Given the description of an element on the screen output the (x, y) to click on. 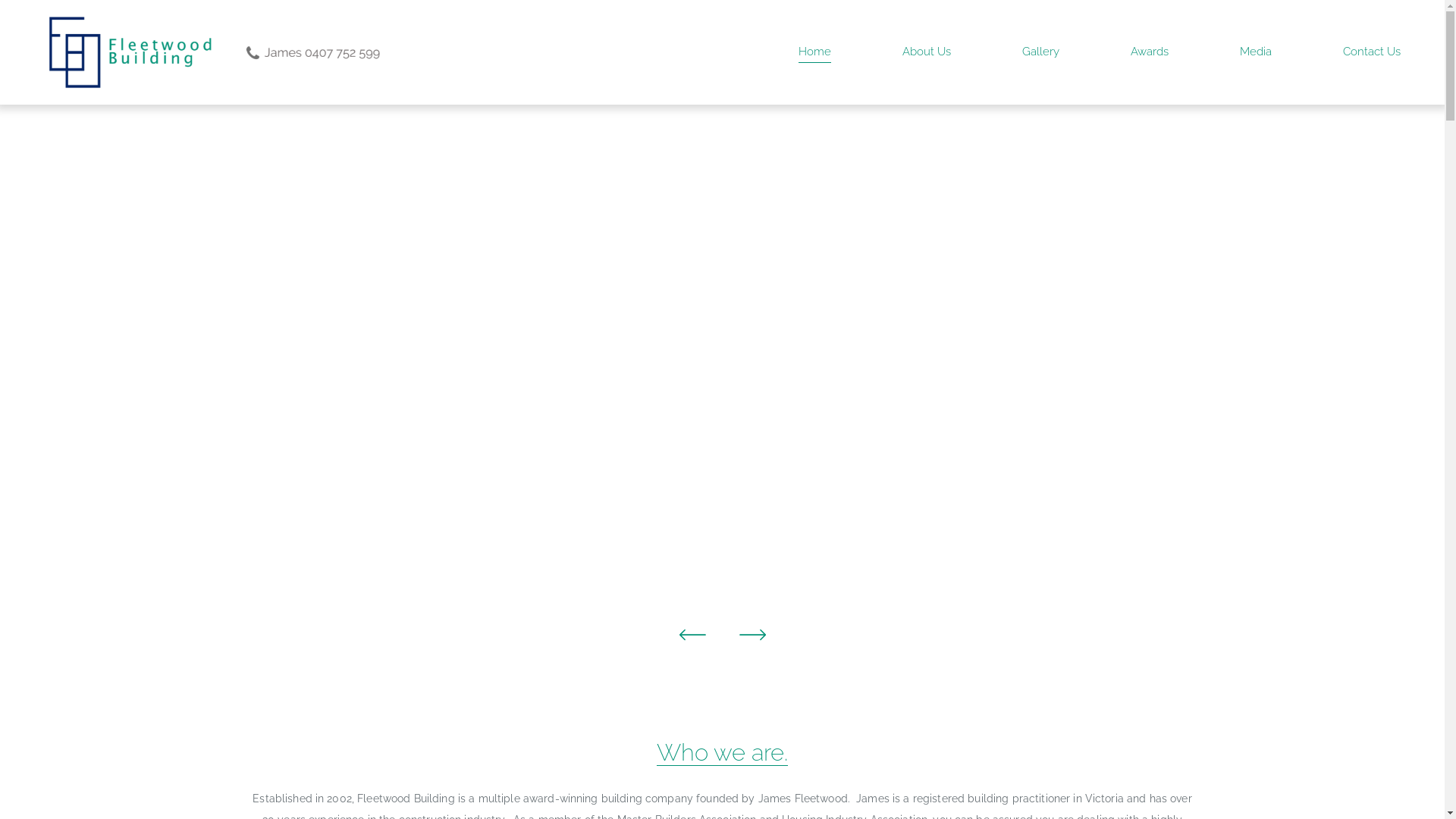
Awards Element type: text (1149, 52)
Who we are. Element type: text (721, 751)
About Us Element type: text (926, 52)
Gallery Element type: text (1040, 52)
Home Element type: text (814, 52)
Contact Us Element type: text (1371, 52)
Media Element type: text (1255, 52)
